Given the description of an element on the screen output the (x, y) to click on. 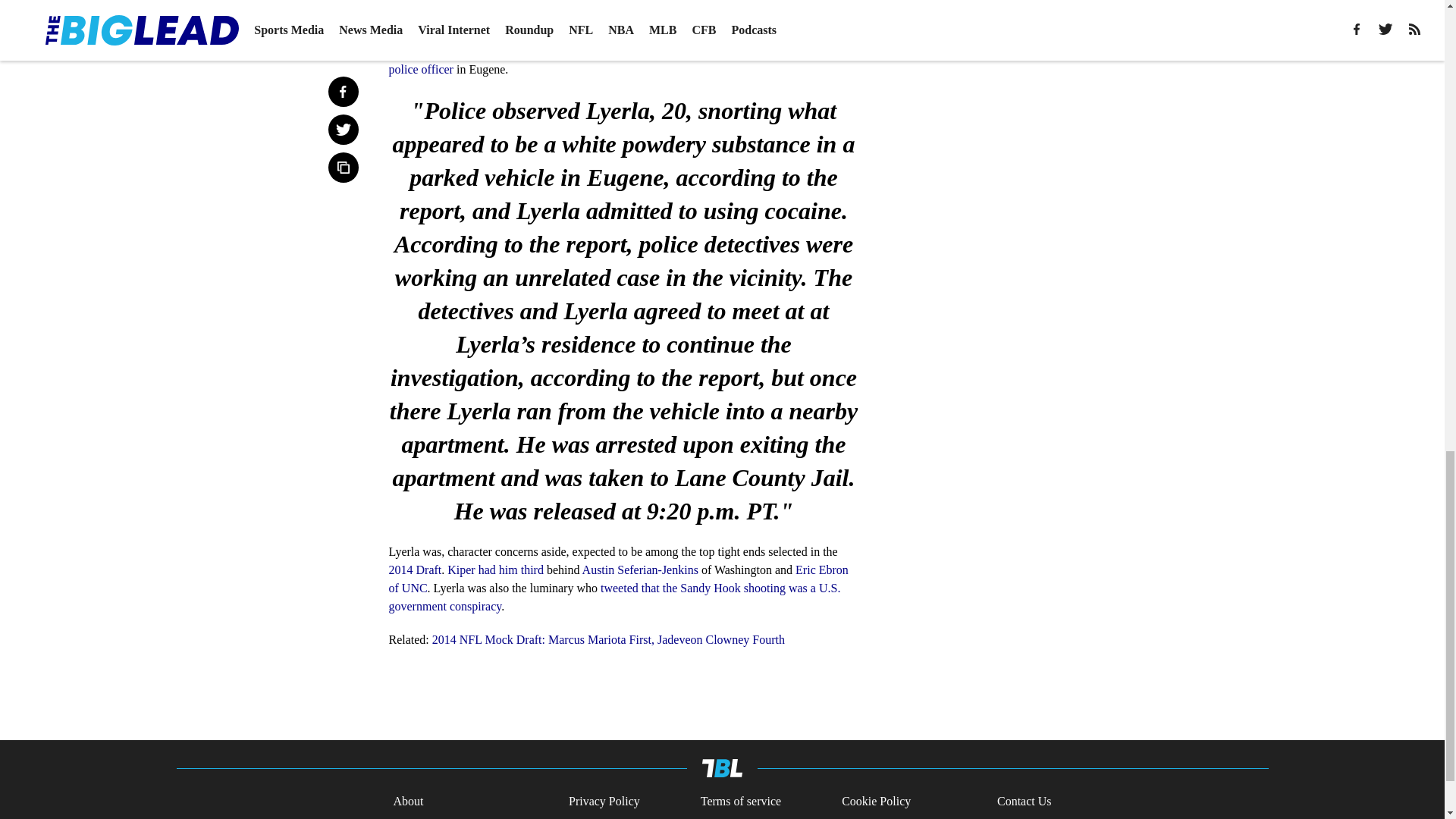
About (408, 801)
Eric Ebron of UNC (617, 578)
Privacy Policy (604, 801)
Terms of service (740, 801)
left the Oregon football program earlier this month (570, 32)
Cookie Policy (876, 801)
2014 Draft (414, 569)
Contact Us (1024, 801)
Austin Seferian-Jenkins (640, 569)
